Given the description of an element on the screen output the (x, y) to click on. 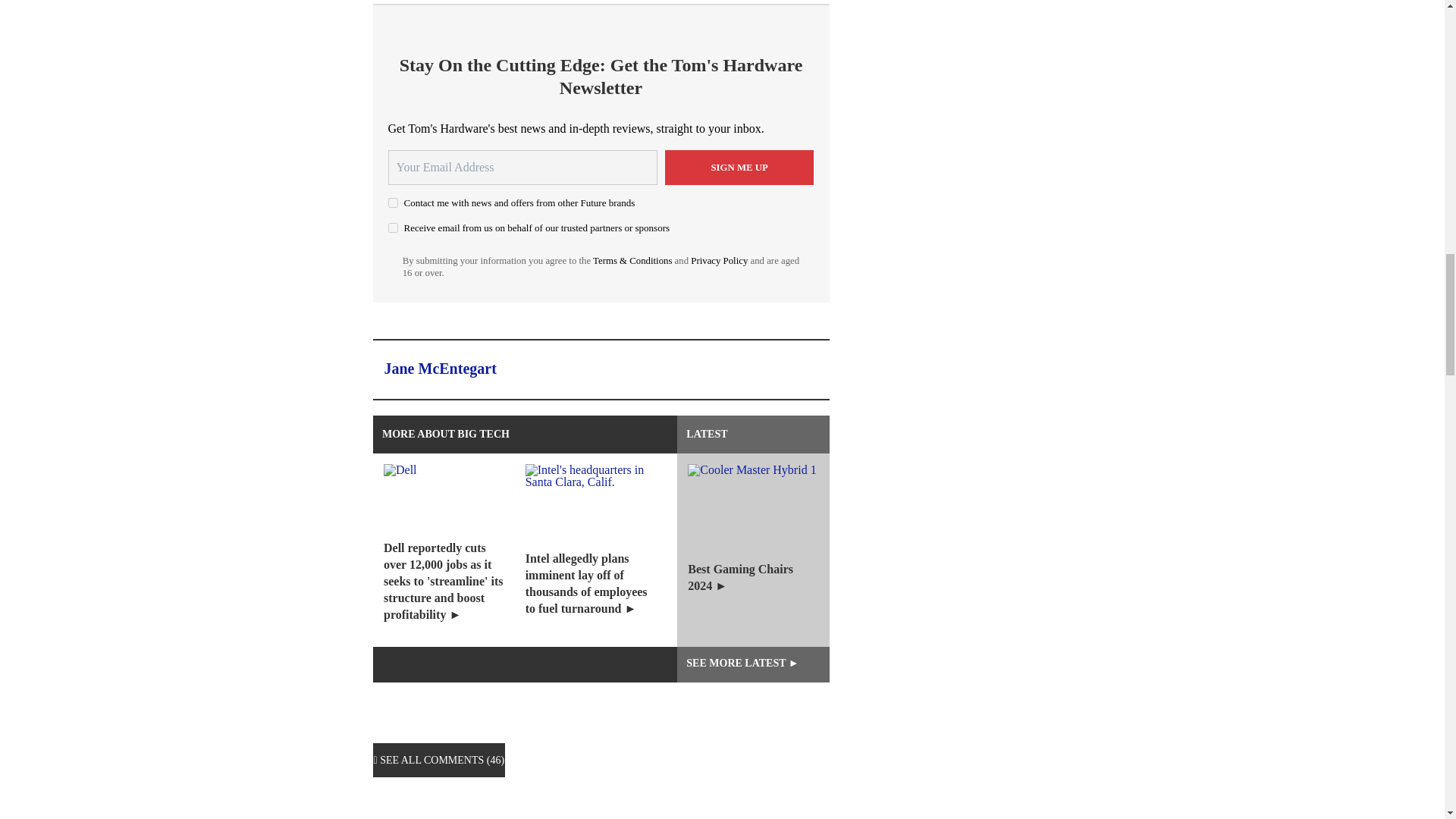
Sign me up (739, 167)
on (392, 227)
on (392, 203)
